Given the description of an element on the screen output the (x, y) to click on. 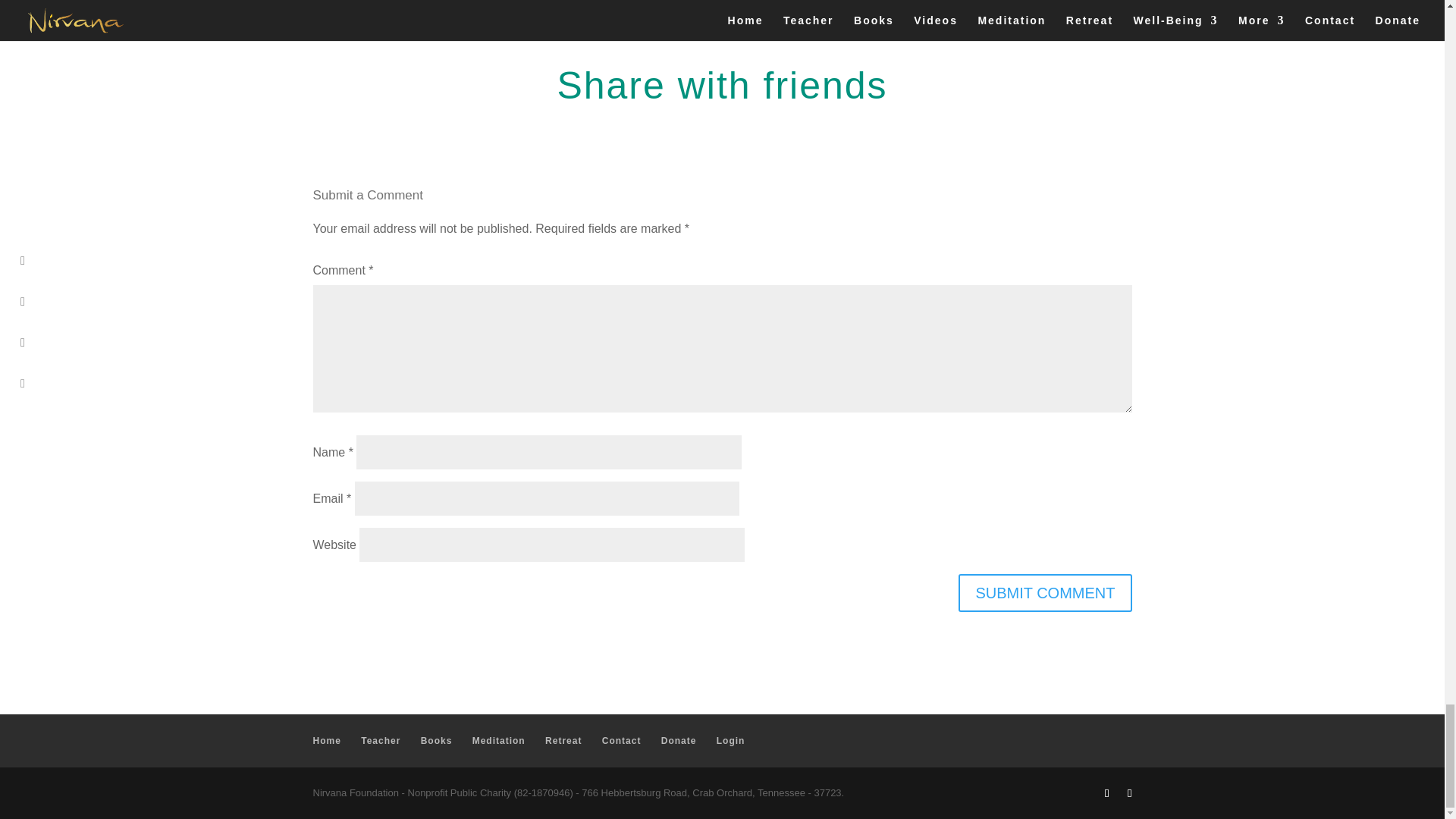
Home (326, 740)
Teacher (380, 740)
Submit Comment (1044, 592)
Submit Comment (1044, 592)
Books (436, 740)
